Given the description of an element on the screen output the (x, y) to click on. 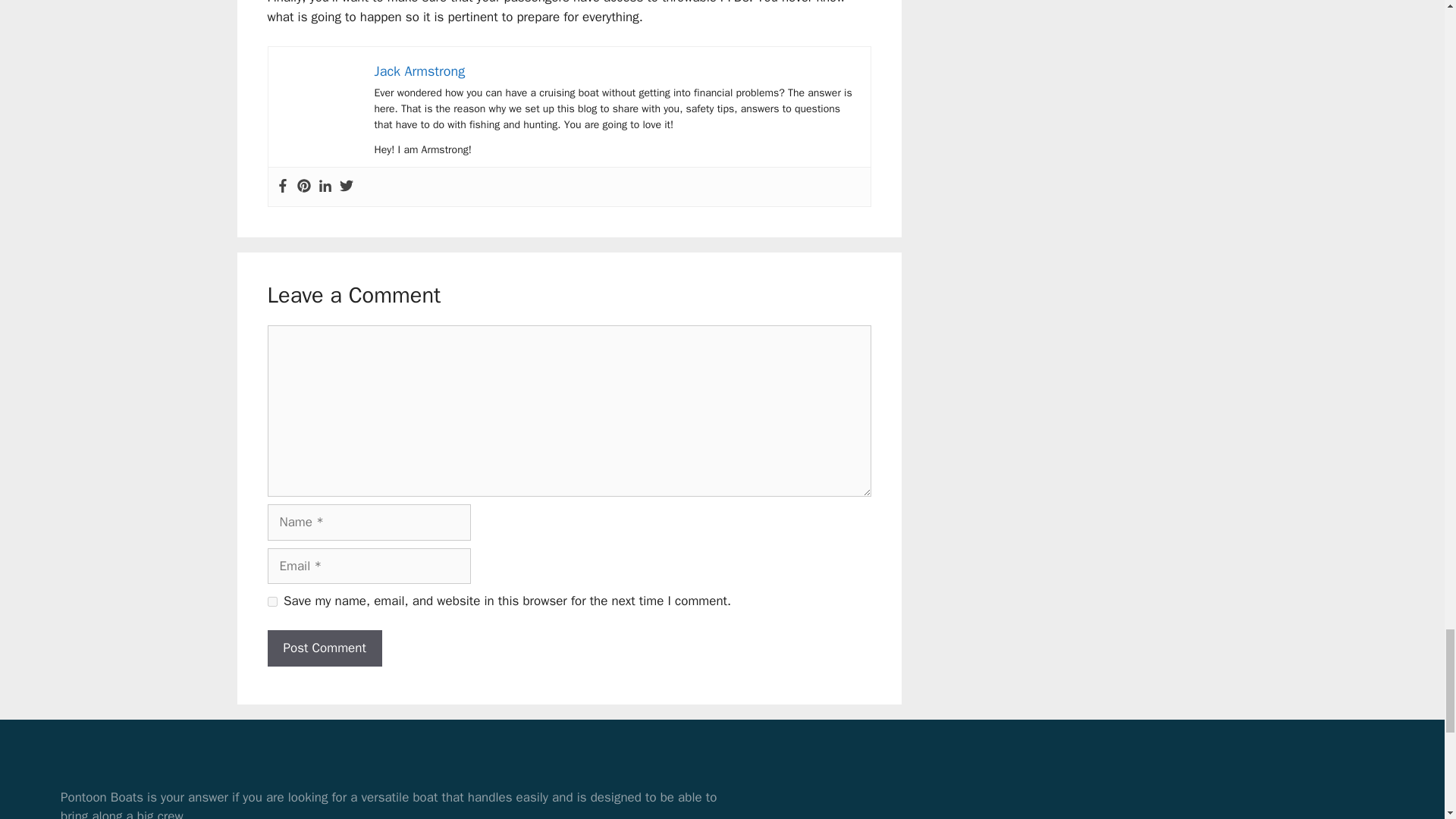
Jack Armstrong (419, 71)
Post Comment (323, 647)
Post Comment (323, 647)
yes (271, 601)
